Given the description of an element on the screen output the (x, y) to click on. 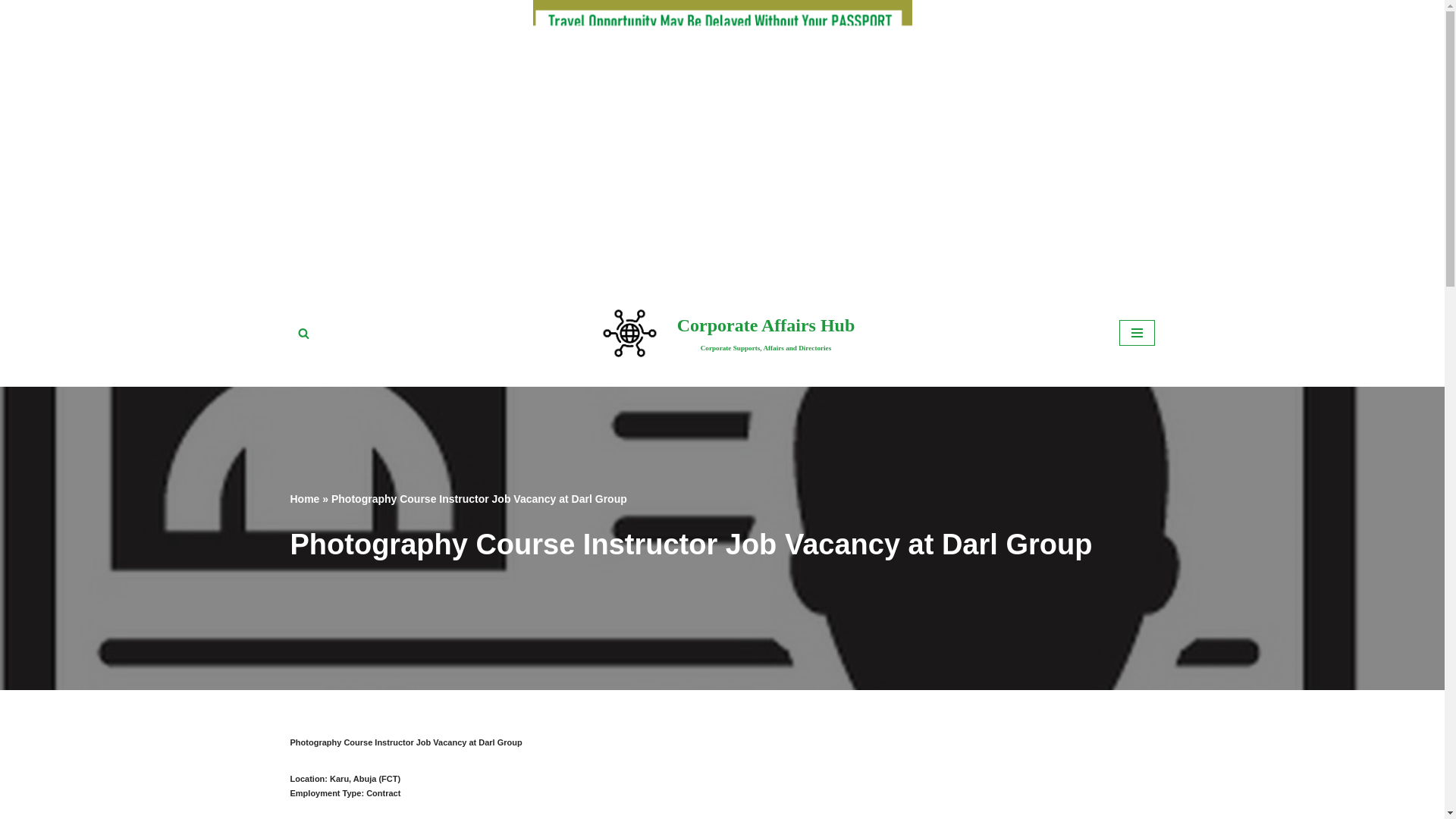
Skip to content (11, 311)
Home (303, 499)
Navigation Menu (1136, 332)
